Given the description of an element on the screen output the (x, y) to click on. 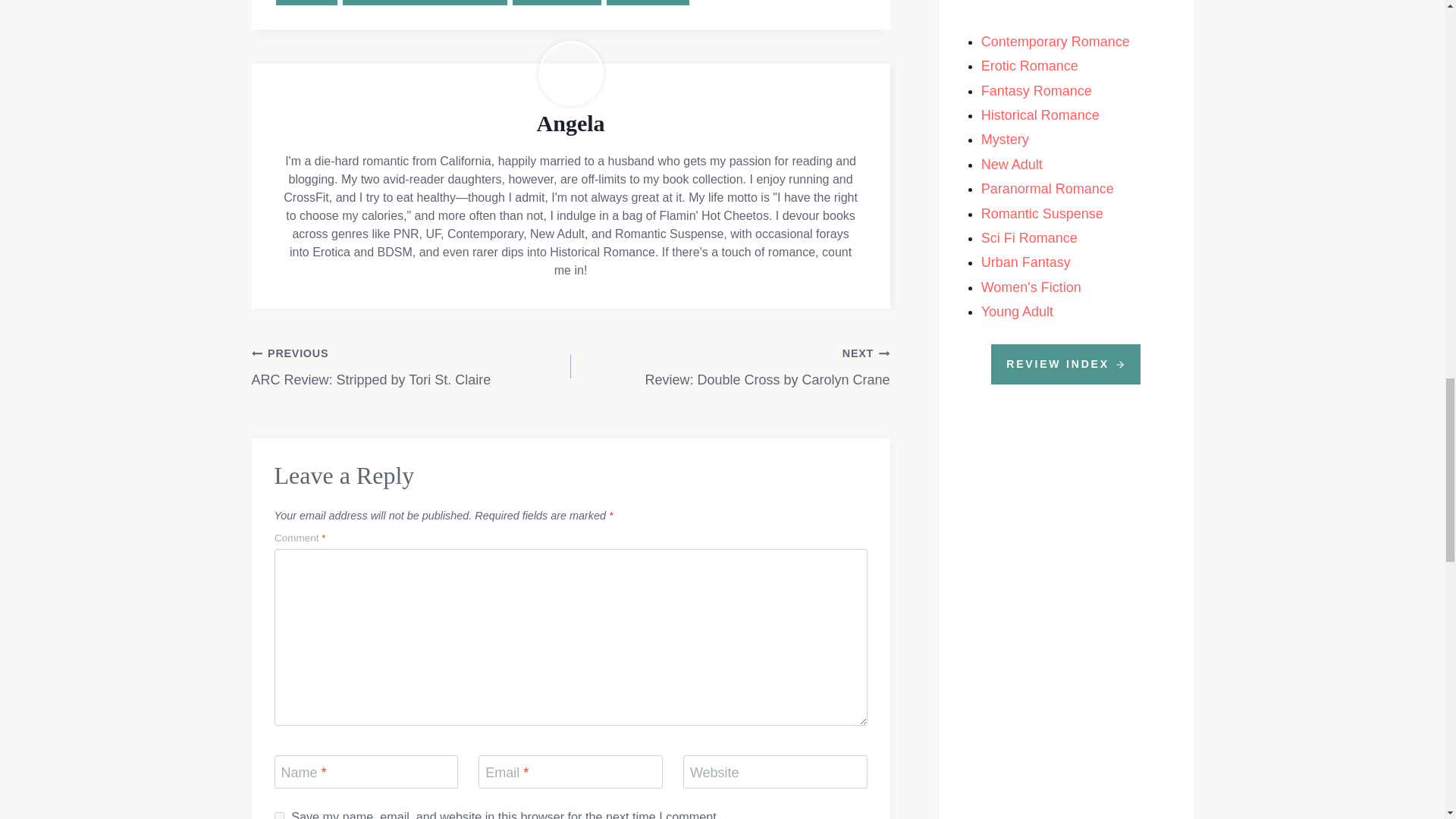
Series: MacKinnon's Rangers (424, 2)
yes (279, 815)
Reviews (306, 2)
Steam: Sweet (556, 2)
Topic: Funny (647, 2)
Posts by Angela (571, 122)
